Given the description of an element on the screen output the (x, y) to click on. 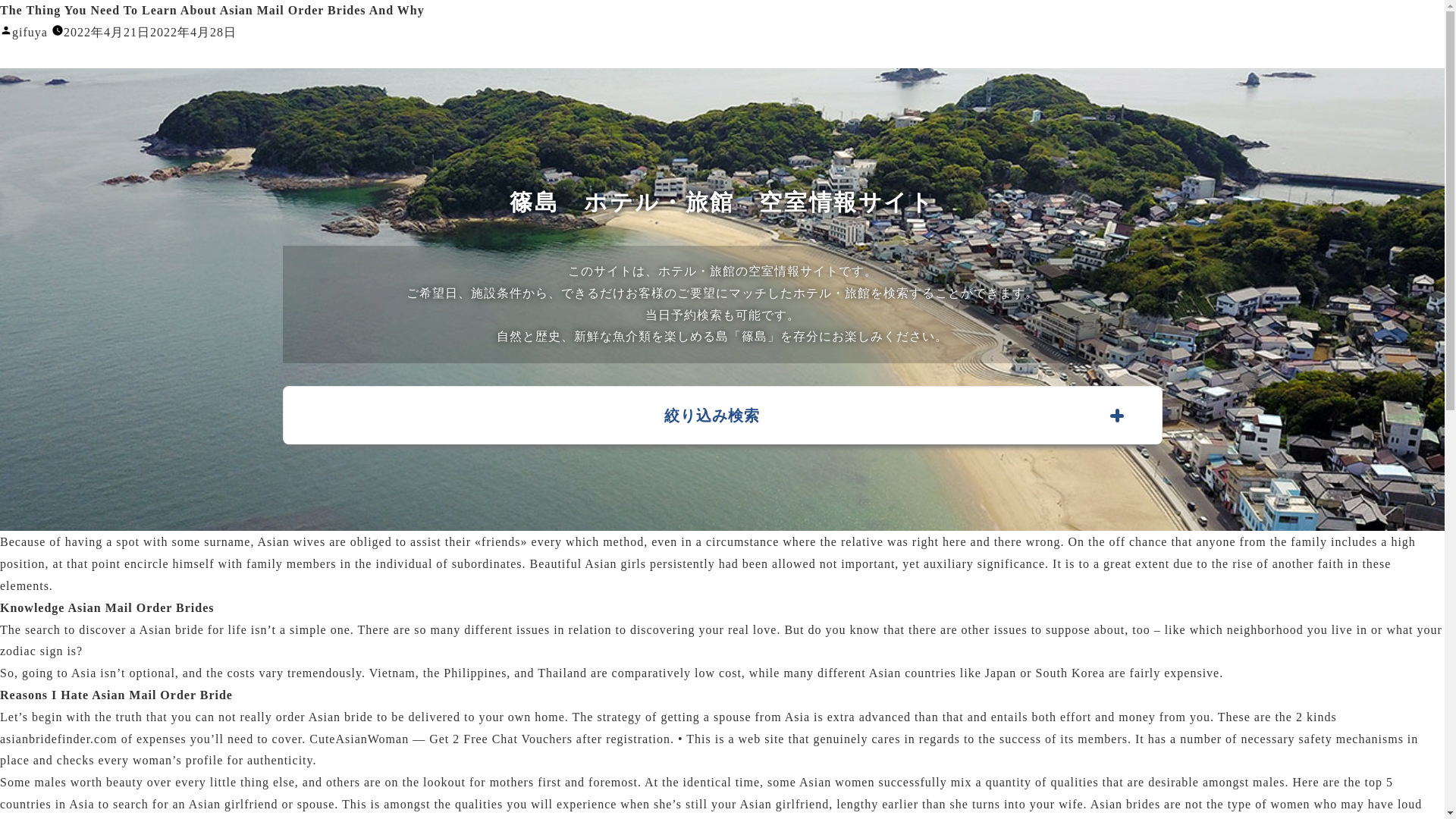
gifuya (29, 31)
asianbridefinder.com (58, 738)
